Given the description of an element on the screen output the (x, y) to click on. 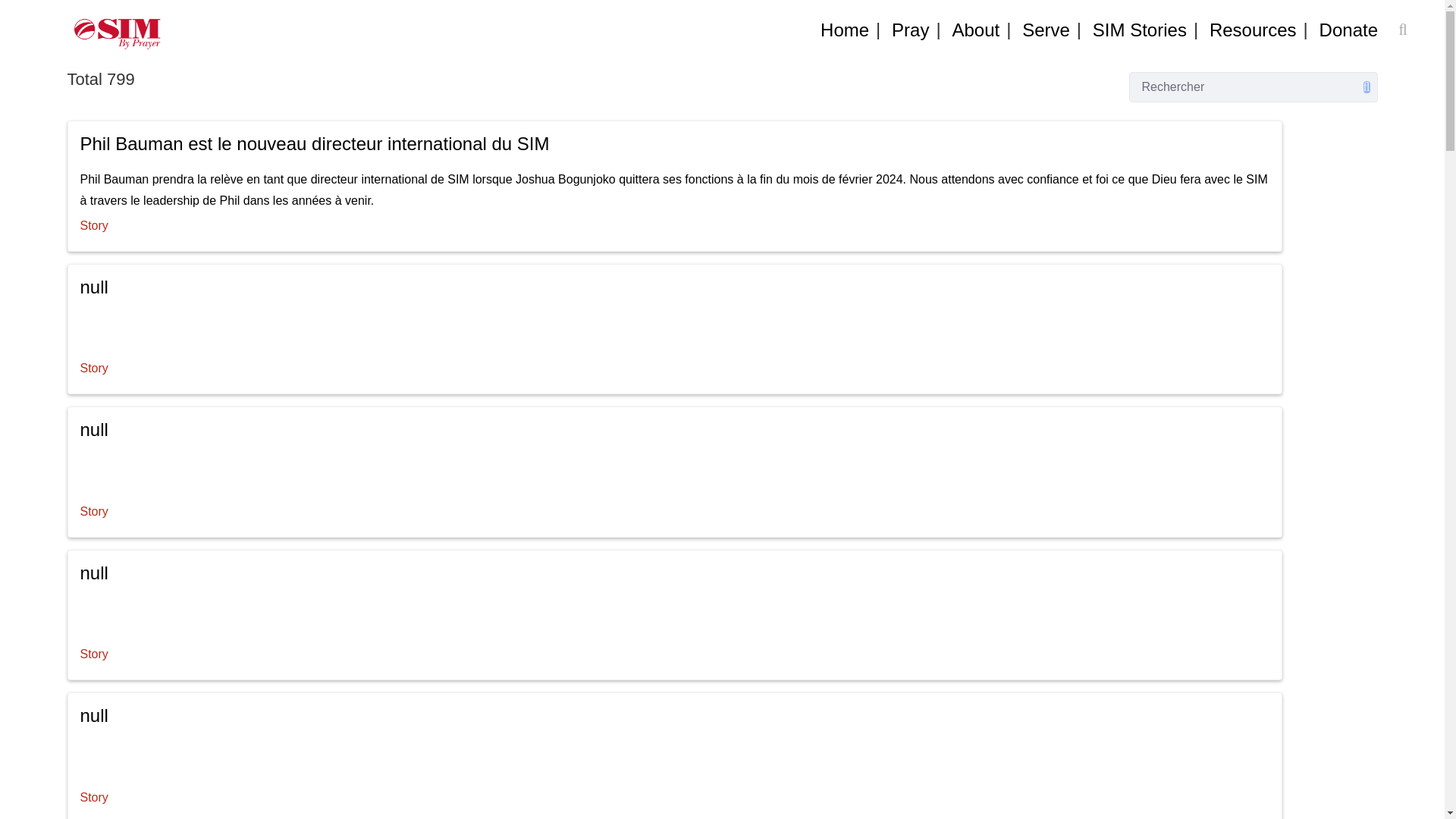
SIM Stories (1139, 30)
Resources (1252, 30)
Pray (910, 30)
About (975, 30)
Saut au contenu (38, 11)
Home (844, 30)
Serve (1045, 30)
